Given the description of an element on the screen output the (x, y) to click on. 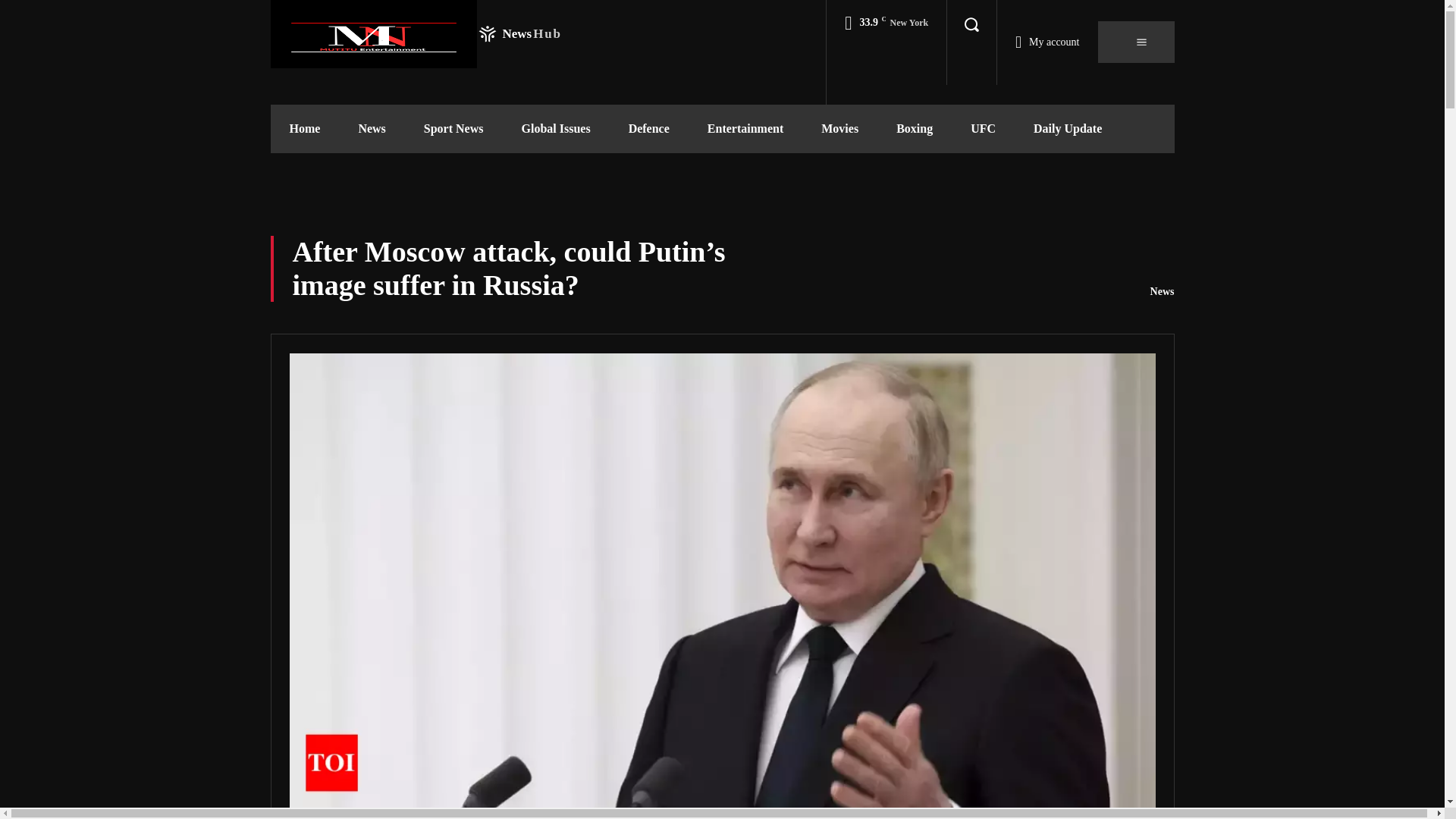
Global Issues (555, 128)
Home (304, 128)
News (414, 33)
Sport News (371, 128)
